Given the description of an element on the screen output the (x, y) to click on. 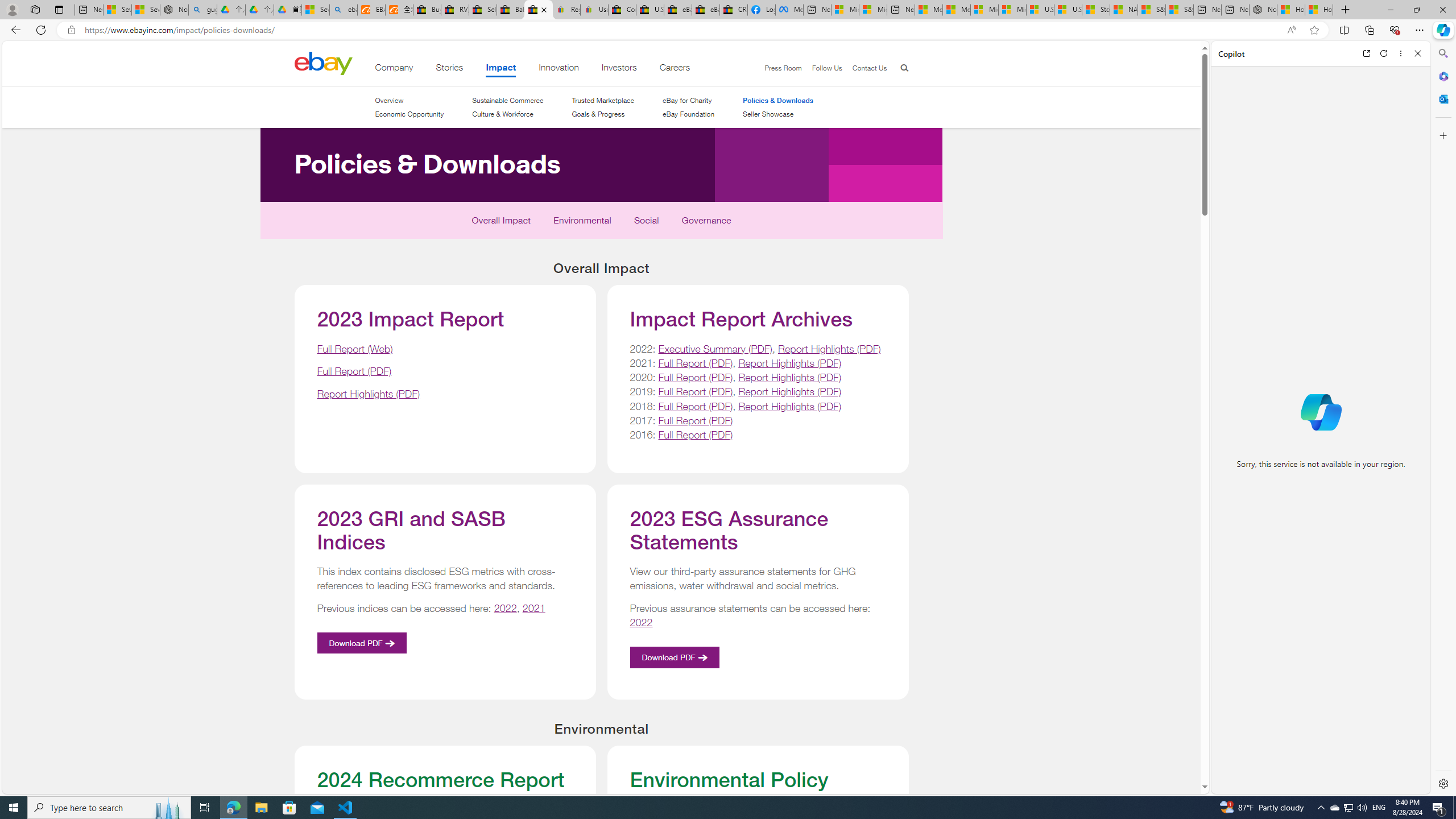
Goals & Progress (603, 113)
Company (393, 69)
Impact (501, 69)
Full Report (PDF) (695, 434)
Outlook (1442, 98)
Consumer Health Data Privacy Policy - eBay Inc. (621, 9)
Press Room (783, 67)
U.S. State Privacy Disclosures - eBay Inc. (649, 9)
Sustainable Commerce (507, 100)
